Given the description of an element on the screen output the (x, y) to click on. 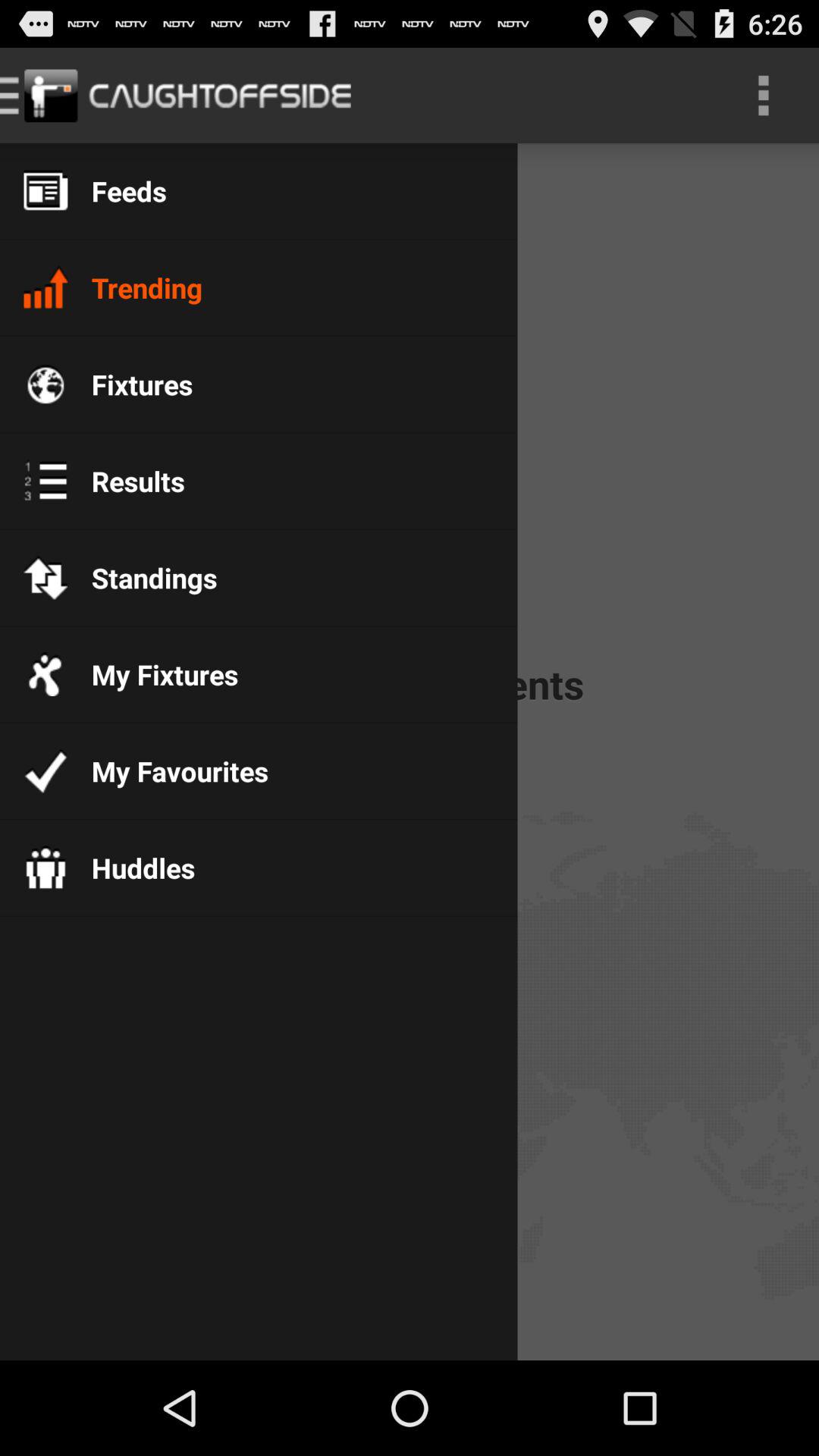
jump to the feeds item (116, 190)
